Given the description of an element on the screen output the (x, y) to click on. 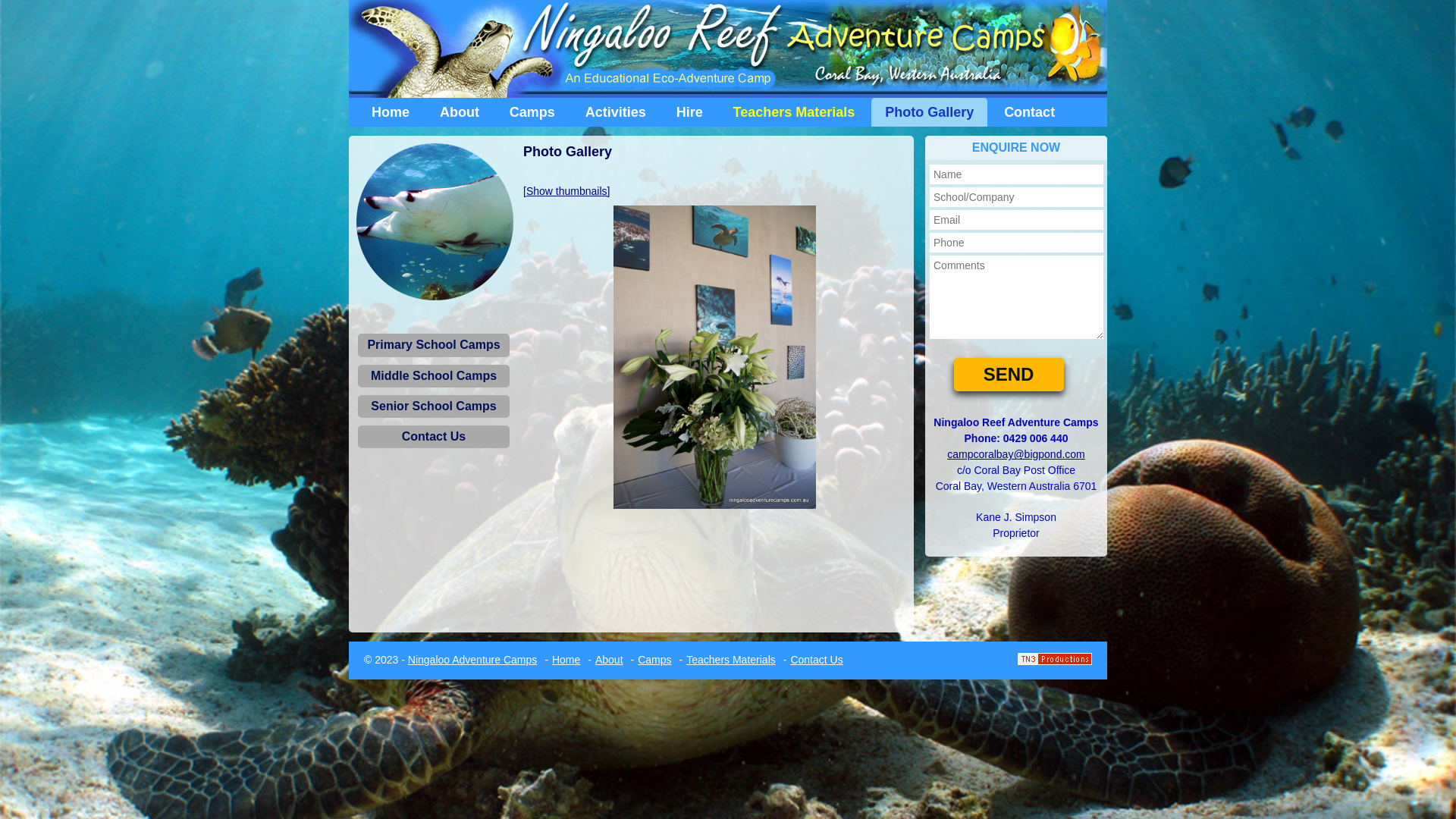
campcoralbay@bigpond.com Element type: text (1016, 454)
Contact Element type: text (1029, 111)
[Show thumbnails] Element type: text (566, 191)
About Element type: text (609, 659)
About Element type: text (459, 111)
Home Element type: text (390, 111)
Camps Element type: text (531, 111)
Senior School Camps Element type: text (433, 406)
Contact Us Element type: text (816, 659)
Send Element type: text (1008, 374)
Middle School Camps Element type: text (433, 375)
Teachers Materials Element type: text (730, 659)
Hire Element type: text (689, 111)
Photo Gallery Element type: text (929, 111)
Contact Us Element type: text (433, 436)
Skip to content Element type: text (392, 104)
Camps Element type: text (654, 659)
Teachers Materials Element type: text (794, 111)
Primary School Camps Element type: text (433, 344)
Activities Element type: text (615, 111)
Home Element type: text (566, 659)
Ningaloo Adventure Camps Element type: text (471, 659)
